Given the description of an element on the screen output the (x, y) to click on. 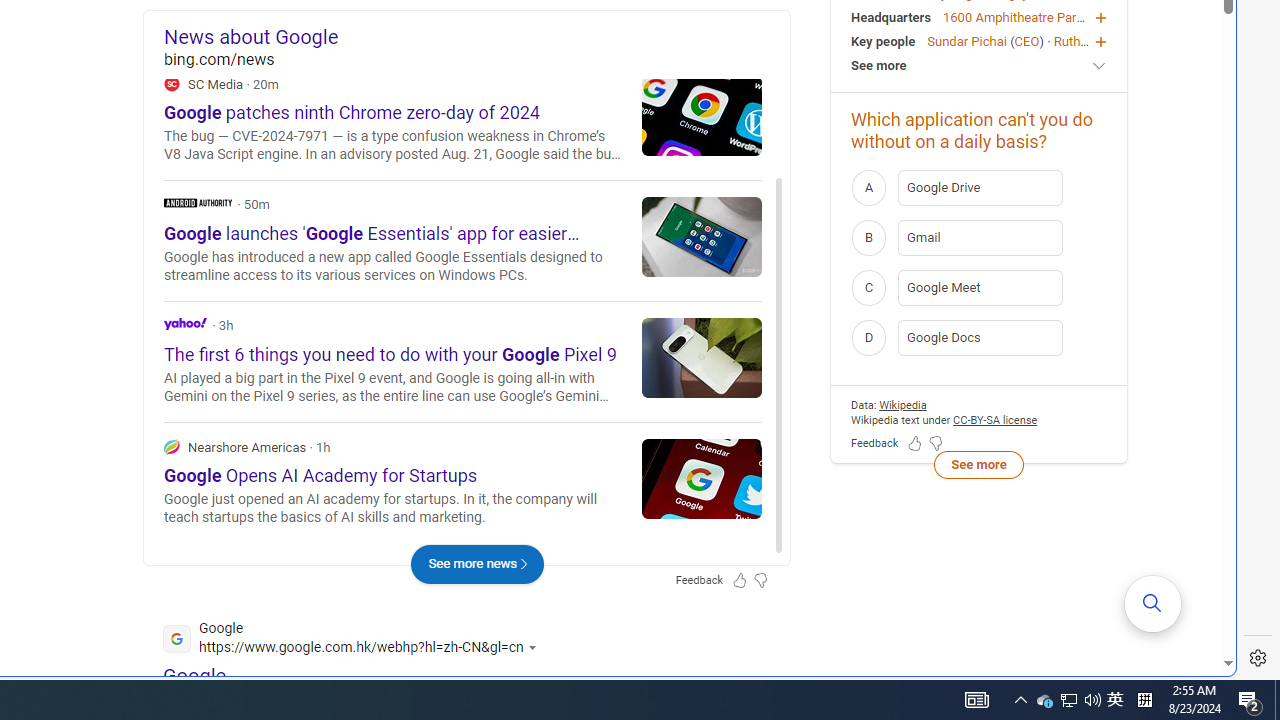
Sundar Pichai (966, 40)
News about Google (476, 36)
CEO (1026, 40)
B Gmail (979, 237)
Data attribution Wikipedia (902, 404)
Feedback Like (914, 444)
Yahoo (185, 322)
See more news (476, 563)
Key people (883, 40)
Android Authority (462, 240)
